Given the description of an element on the screen output the (x, y) to click on. 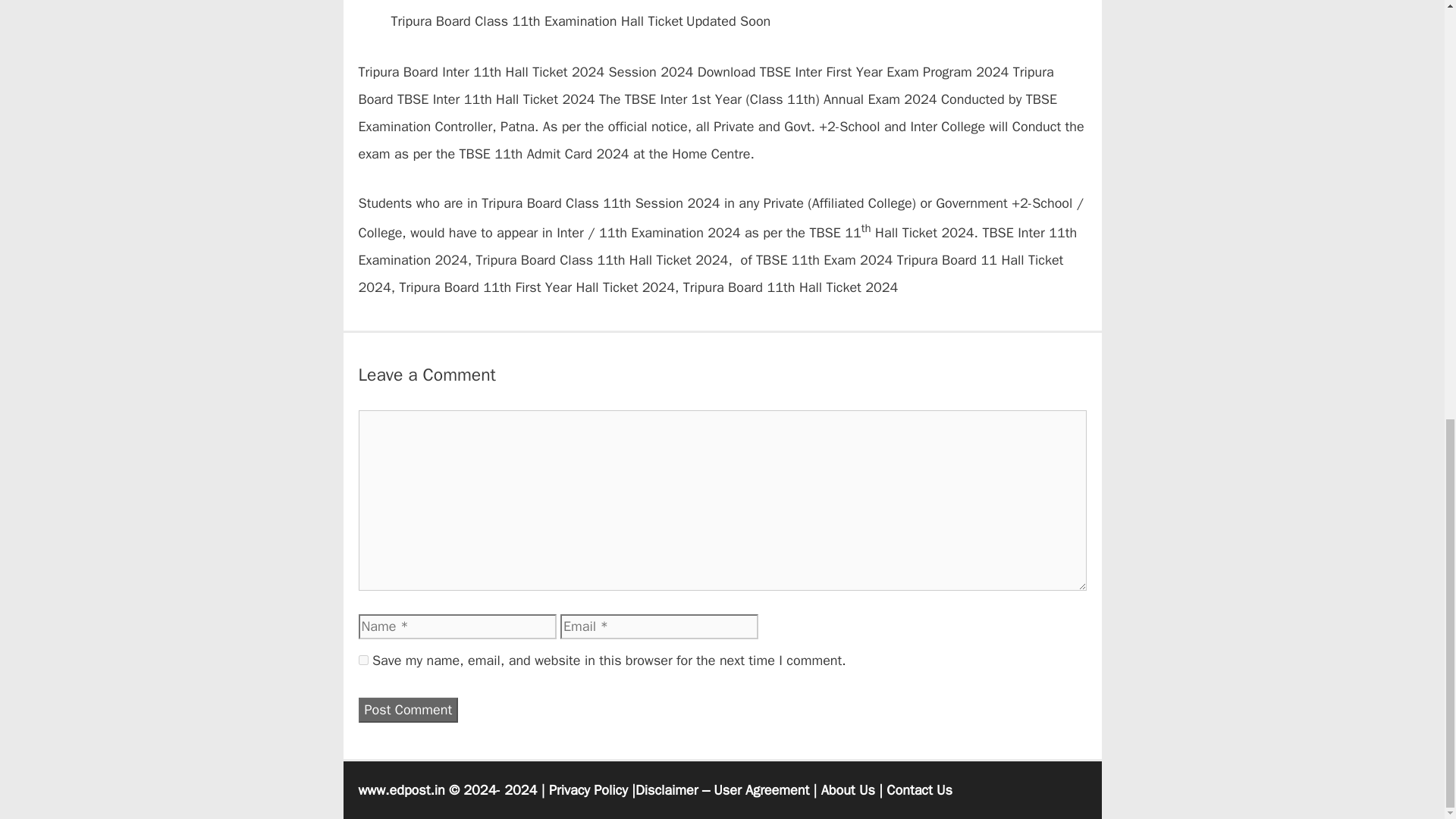
Contact Us (919, 790)
Post Comment (408, 709)
yes (363, 660)
Post Comment (408, 709)
Privacy Policy (587, 790)
About Us (848, 790)
